Given the description of an element on the screen output the (x, y) to click on. 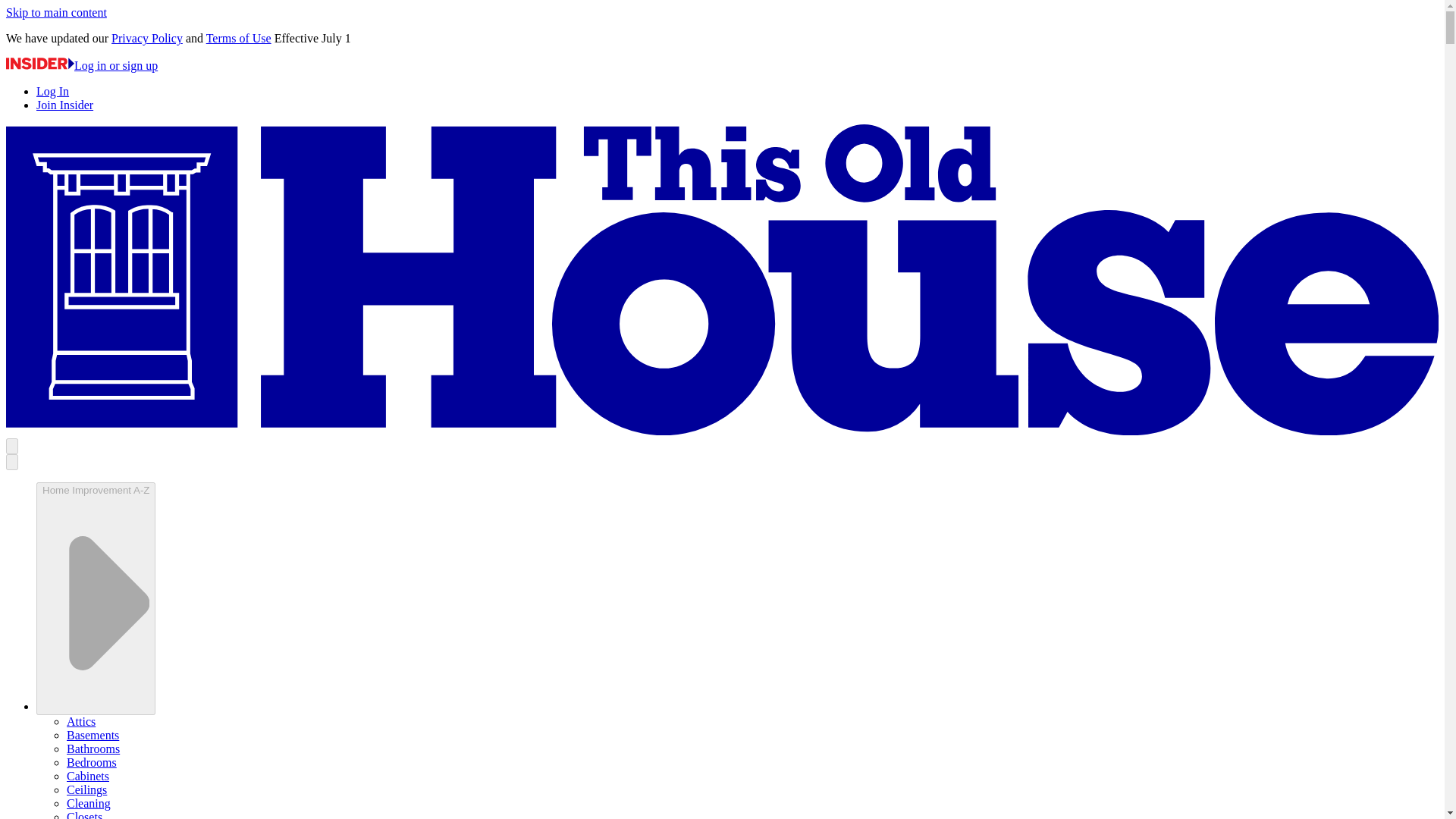
Cleaning (88, 802)
Terms of Use (238, 38)
Bedrooms (91, 762)
Privacy Policy (147, 38)
Log In (52, 91)
Home Improvement A-Z (95, 598)
Join Insider (64, 104)
Cabinets (87, 775)
Skip to main content (55, 11)
Log in or sign up (81, 65)
Closets (83, 814)
Bathrooms (92, 748)
Attics (81, 721)
Ceilings (86, 789)
Basements (92, 735)
